Given the description of an element on the screen output the (x, y) to click on. 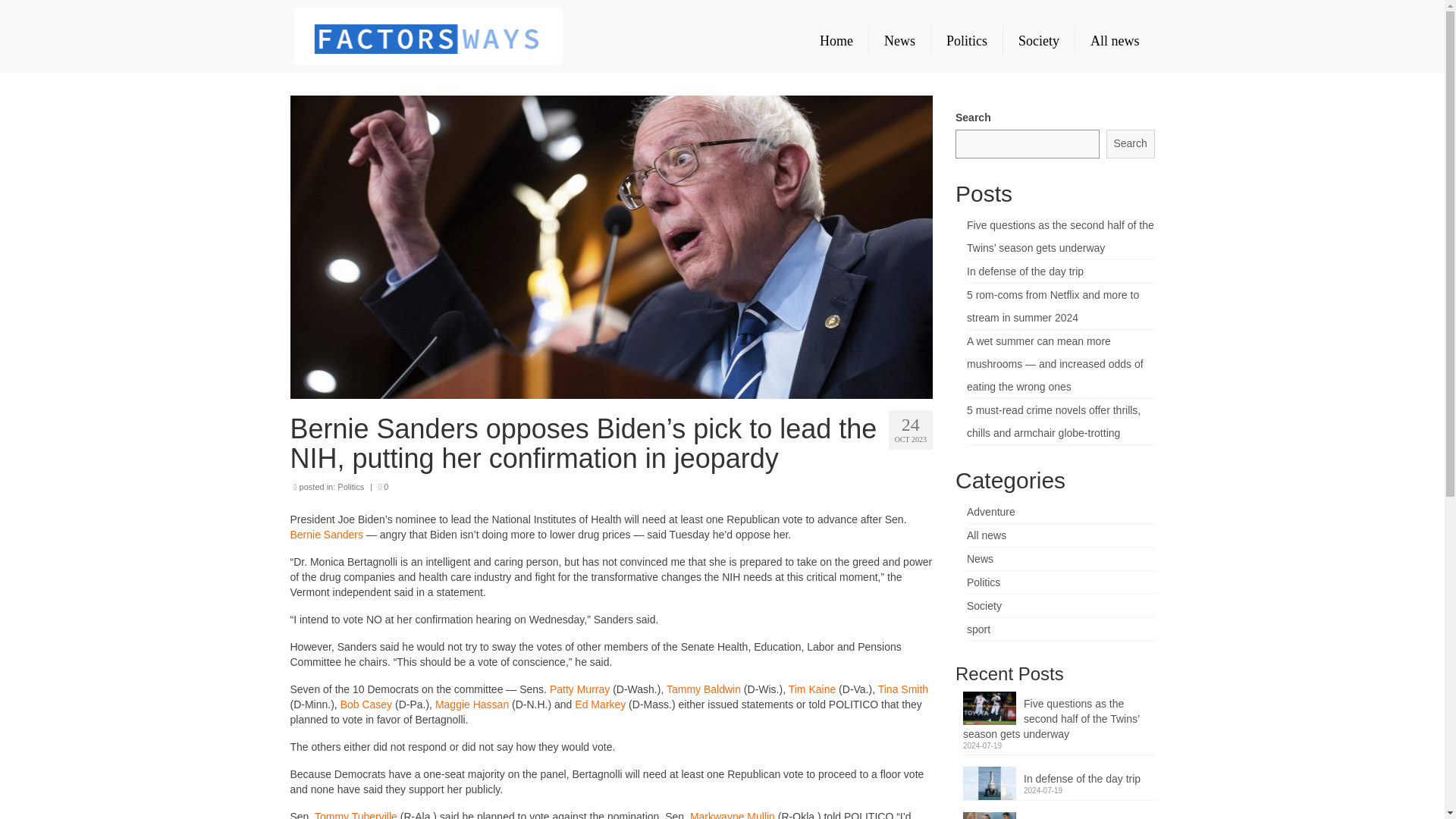
Society (1038, 40)
Ed Markey (599, 704)
Bernie Sanders (325, 534)
News (979, 558)
Search (1130, 143)
Markwayne Mullin (732, 814)
Tina Smith (902, 689)
Adventure (990, 511)
Tommy Tuberville (357, 814)
Tim Kaine (812, 689)
Home (836, 40)
In defense of the day trip (1024, 271)
5 rom-coms from Netflix and more to stream in summer 2024 (1052, 306)
All news (986, 535)
News (899, 40)
